Given the description of an element on the screen output the (x, y) to click on. 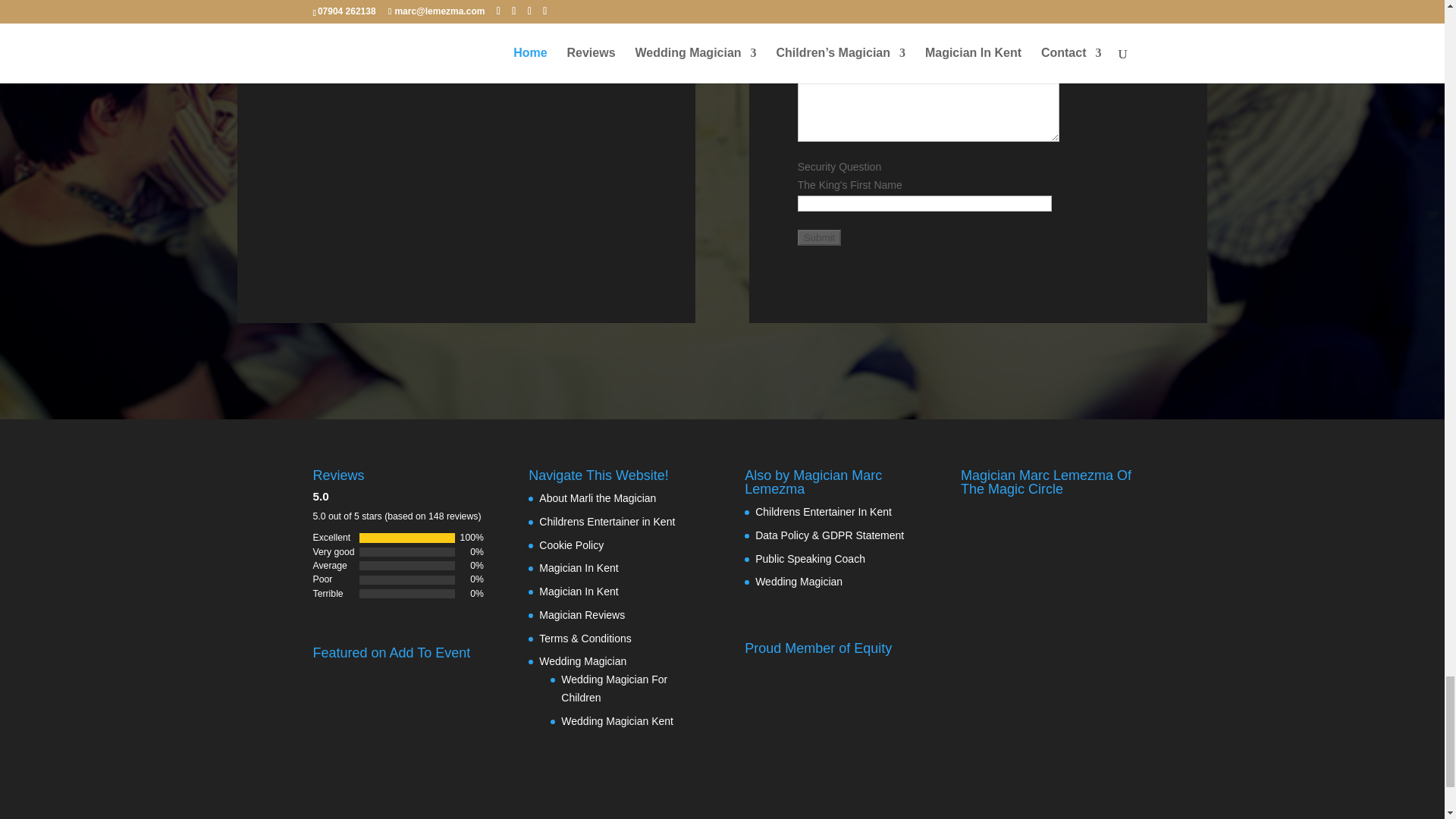
Public Speaking and Communications Skills Coach  (809, 558)
Wedding Magician  (799, 581)
Submit (819, 237)
